Given the description of an element on the screen output the (x, y) to click on. 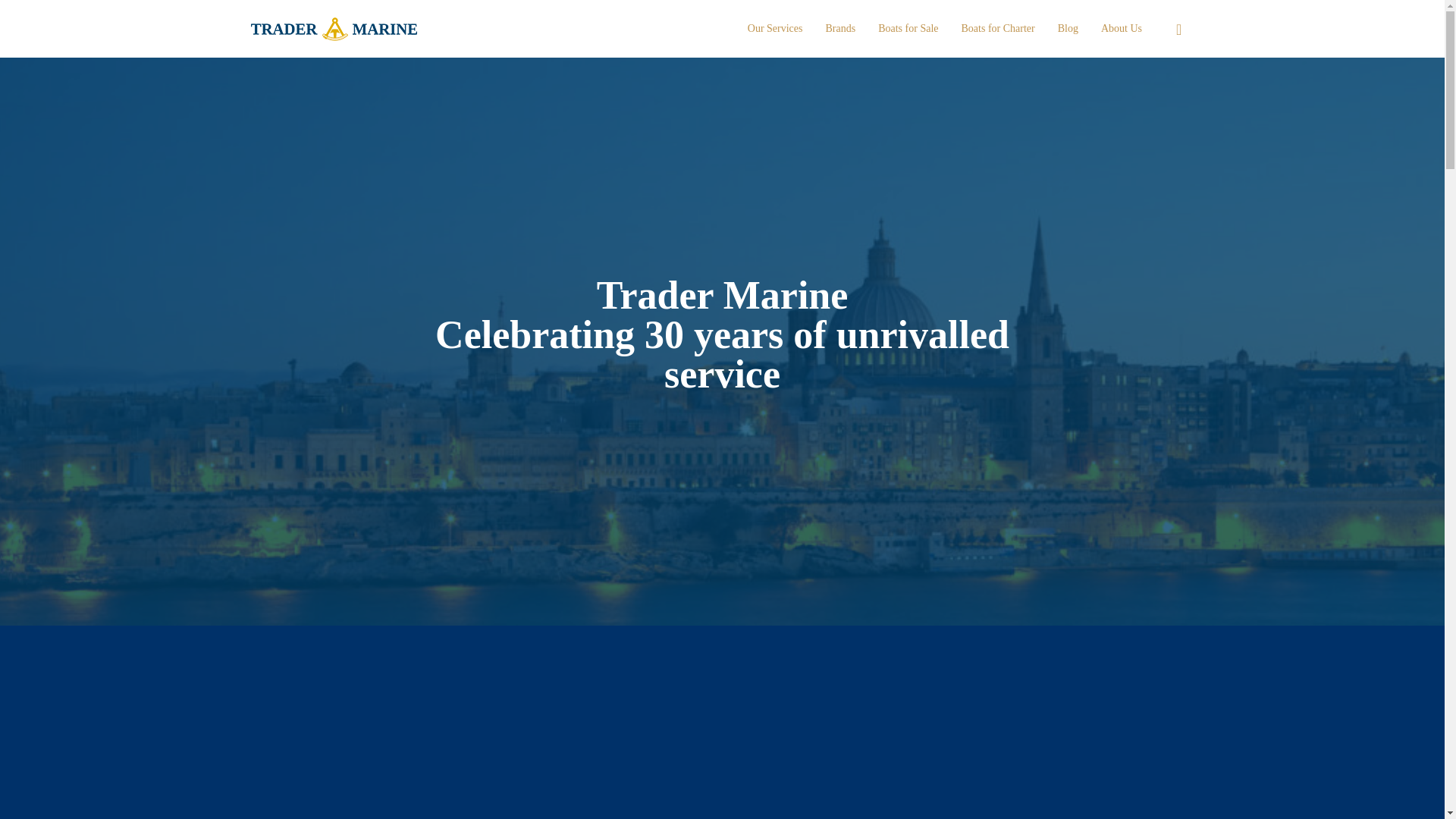
Boats for Charter (997, 28)
About Us (1120, 28)
Boats for Sale (907, 28)
Our Services (775, 28)
Brands (840, 28)
Blog (1068, 28)
